Given the description of an element on the screen output the (x, y) to click on. 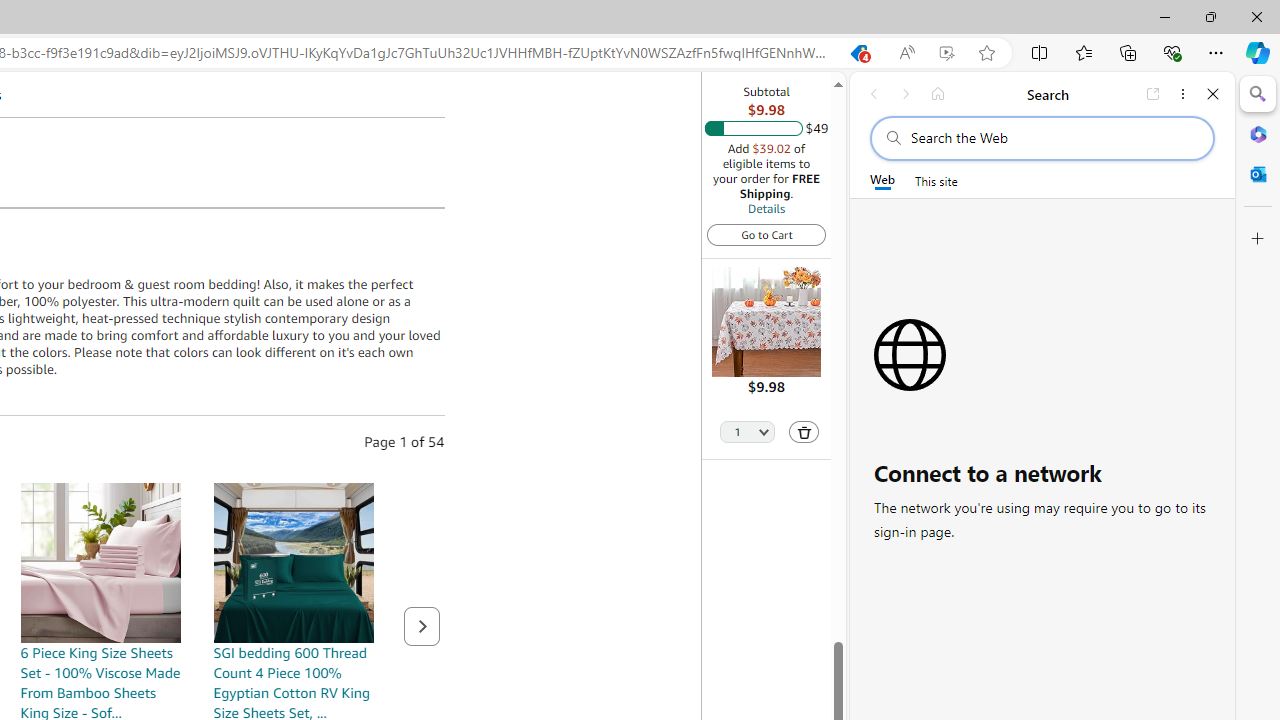
This site scope (936, 180)
Forward (906, 93)
Shopping in Microsoft Edge (858, 53)
Search the web (1051, 137)
Open link in new tab (1153, 93)
